Given the description of an element on the screen output the (x, y) to click on. 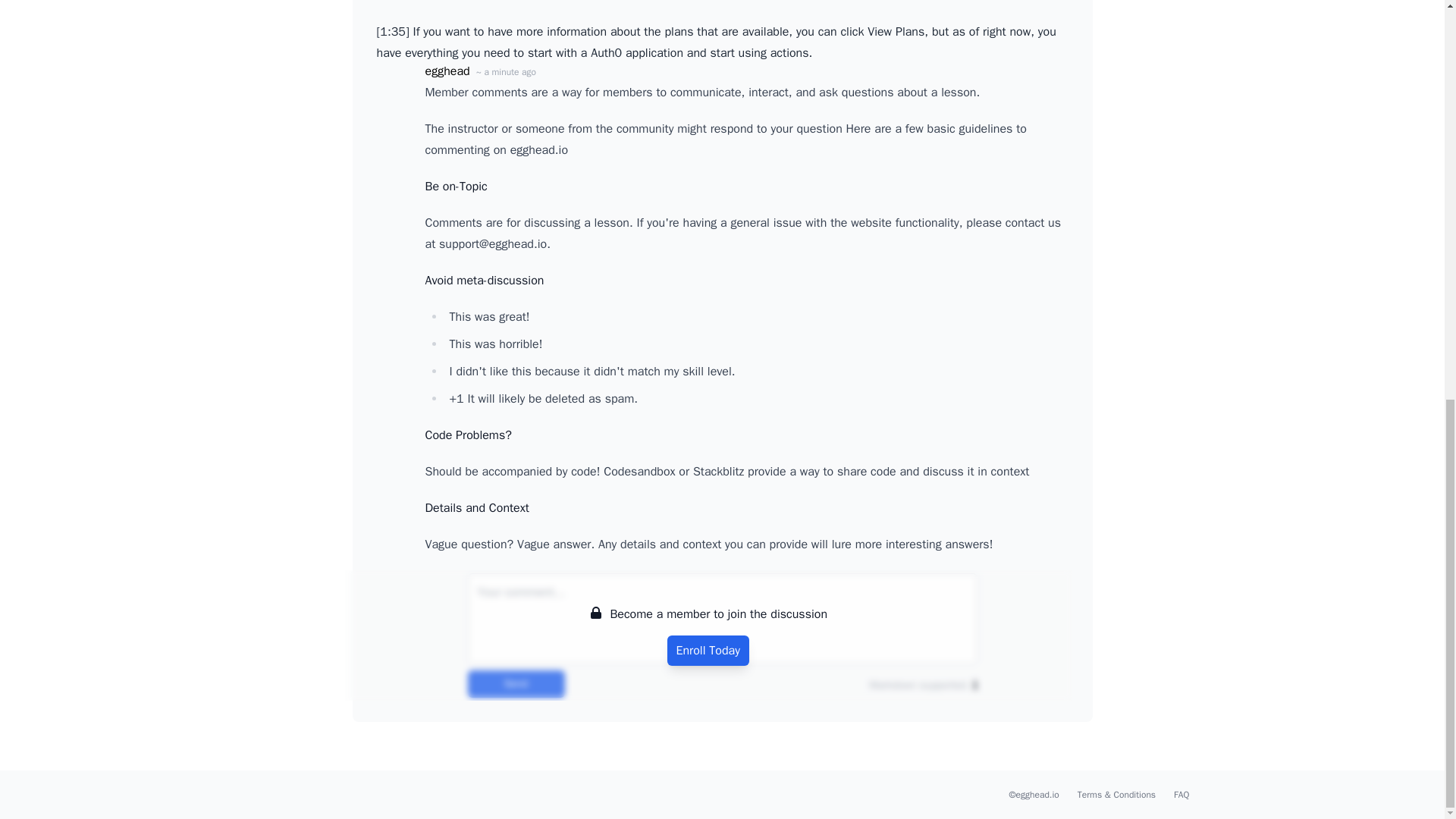
Enroll Today (707, 650)
FAQ (1181, 794)
Send (515, 683)
